Given the description of an element on the screen output the (x, y) to click on. 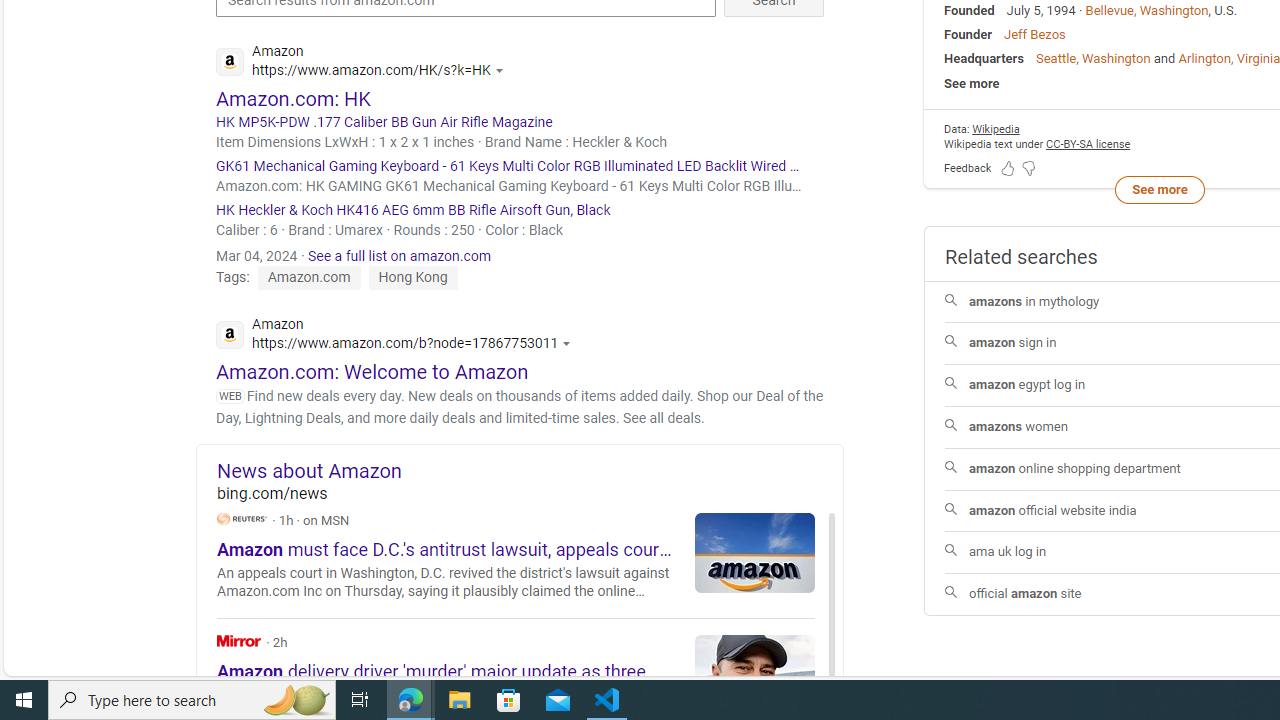
Data attribution Wikipedia (995, 129)
